Given the description of an element on the screen output the (x, y) to click on. 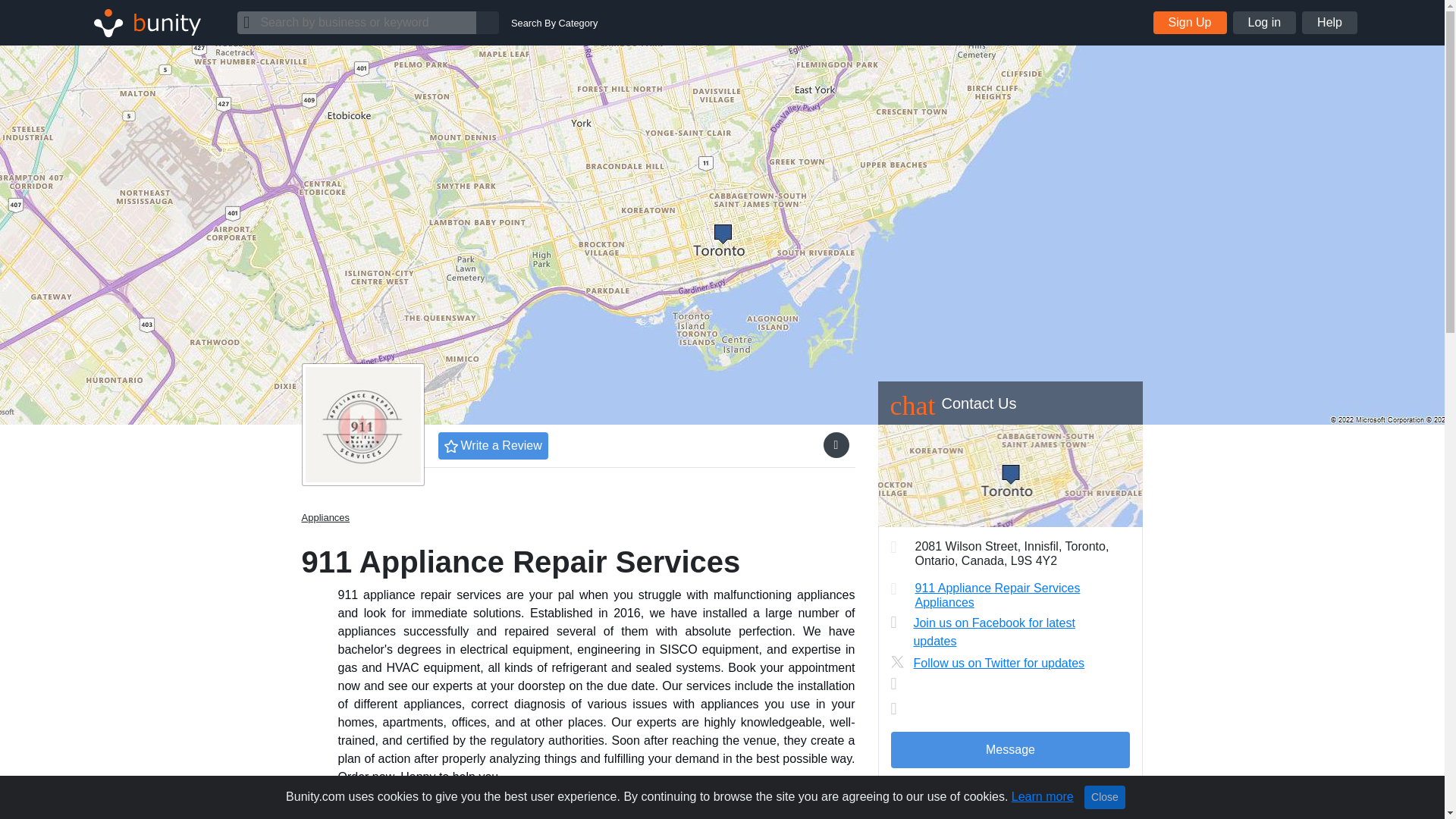
Search By Category (554, 22)
Message (1009, 750)
Write a Review (493, 445)
Edit my Business (1010, 795)
Sign Up (1190, 22)
Log in (1265, 22)
Help (1328, 22)
Join us on Facebook for latest updates (1005, 632)
Appliances (325, 517)
911 Appliance Repair Services Appliances (997, 595)
Follow us on Twitter for updates (1005, 662)
